Given the description of an element on the screen output the (x, y) to click on. 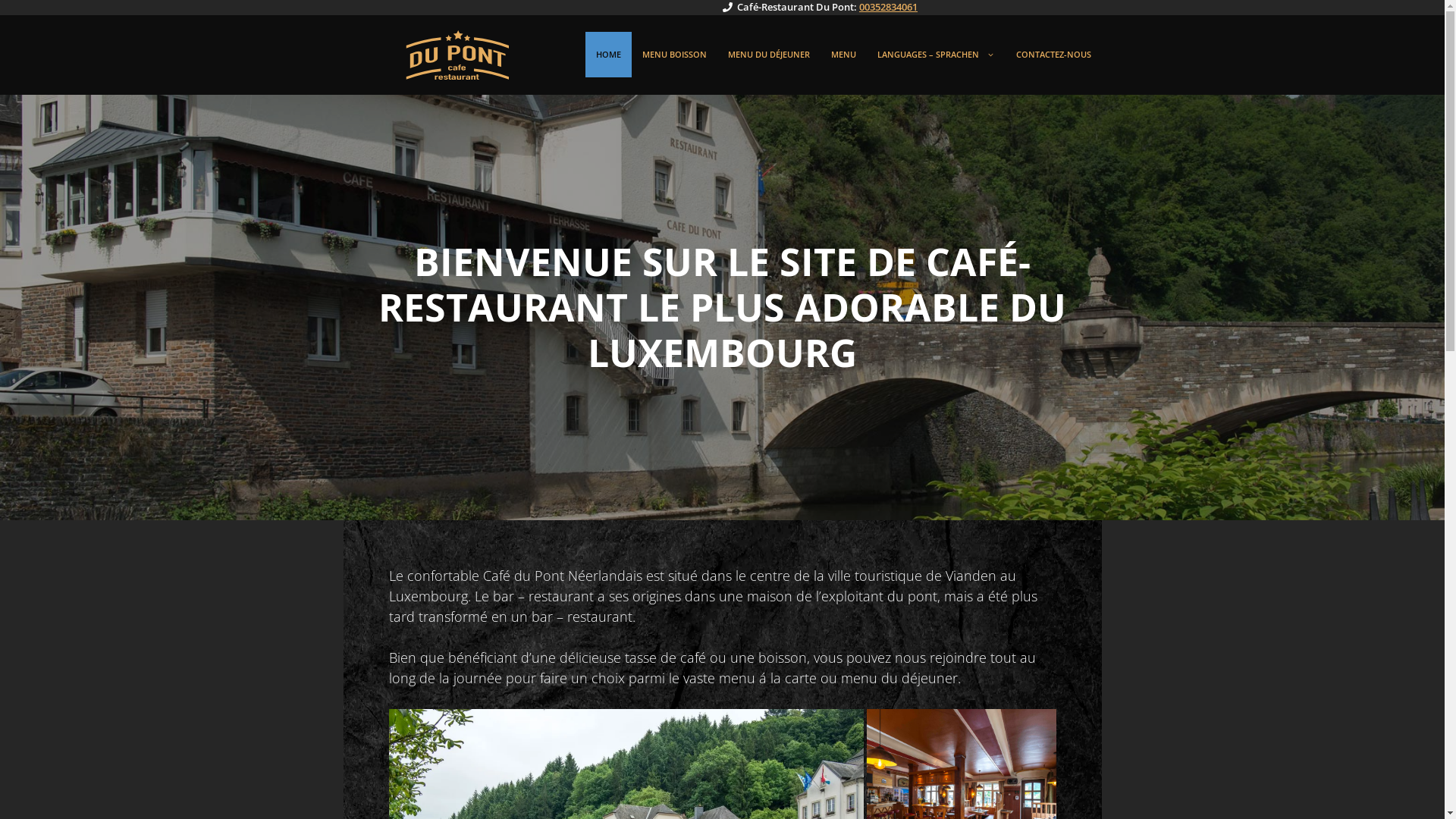
HOME Element type: text (608, 54)
MENU Element type: text (843, 54)
MENU BOISSON Element type: text (673, 54)
CONTACTEZ-NOUS Element type: text (1053, 54)
00352834061 Element type: text (888, 6)
